Given the description of an element on the screen output the (x, y) to click on. 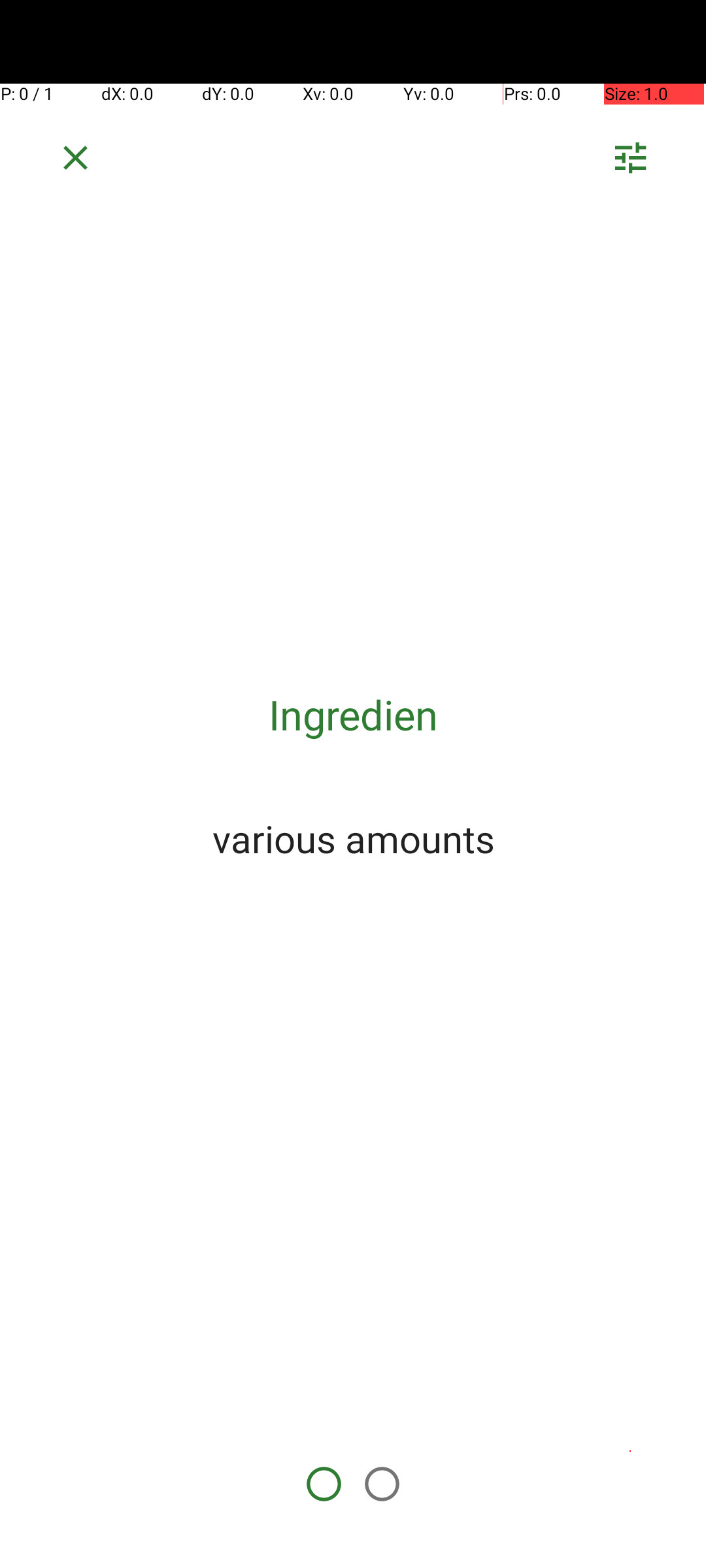
Adjust ingredients Element type: android.widget.Button (630, 161)
Ingredients Element type: android.widget.TextView (352, 714)
various amounts Element type: android.widget.TextView (352, 838)
